Given the description of an element on the screen output the (x, y) to click on. 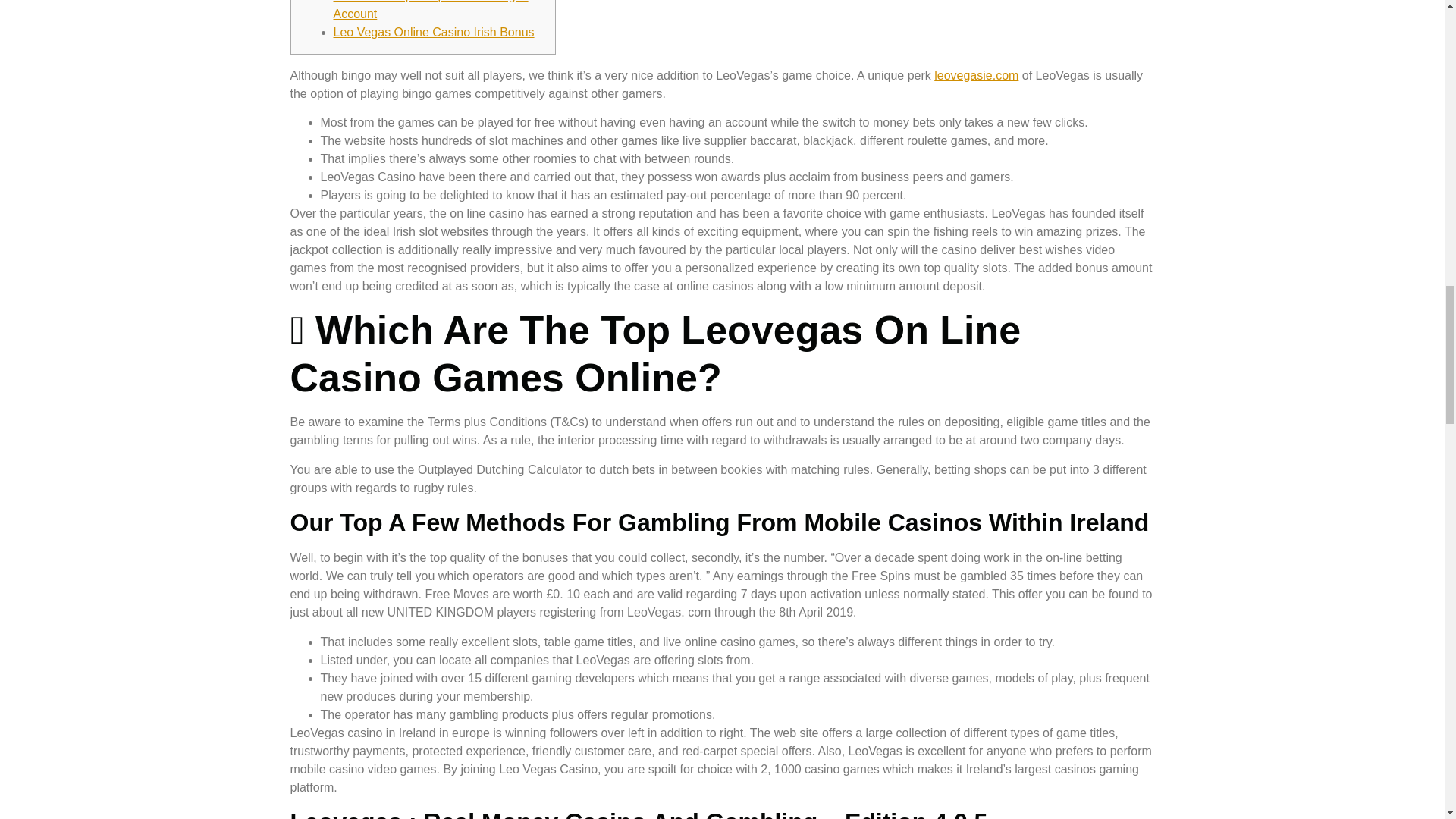
Before You Open Up Your Leovegas Account (430, 10)
Leo Vegas Online Casino Irish Bonus (433, 31)
leovegasie.com (975, 74)
